Given the description of an element on the screen output the (x, y) to click on. 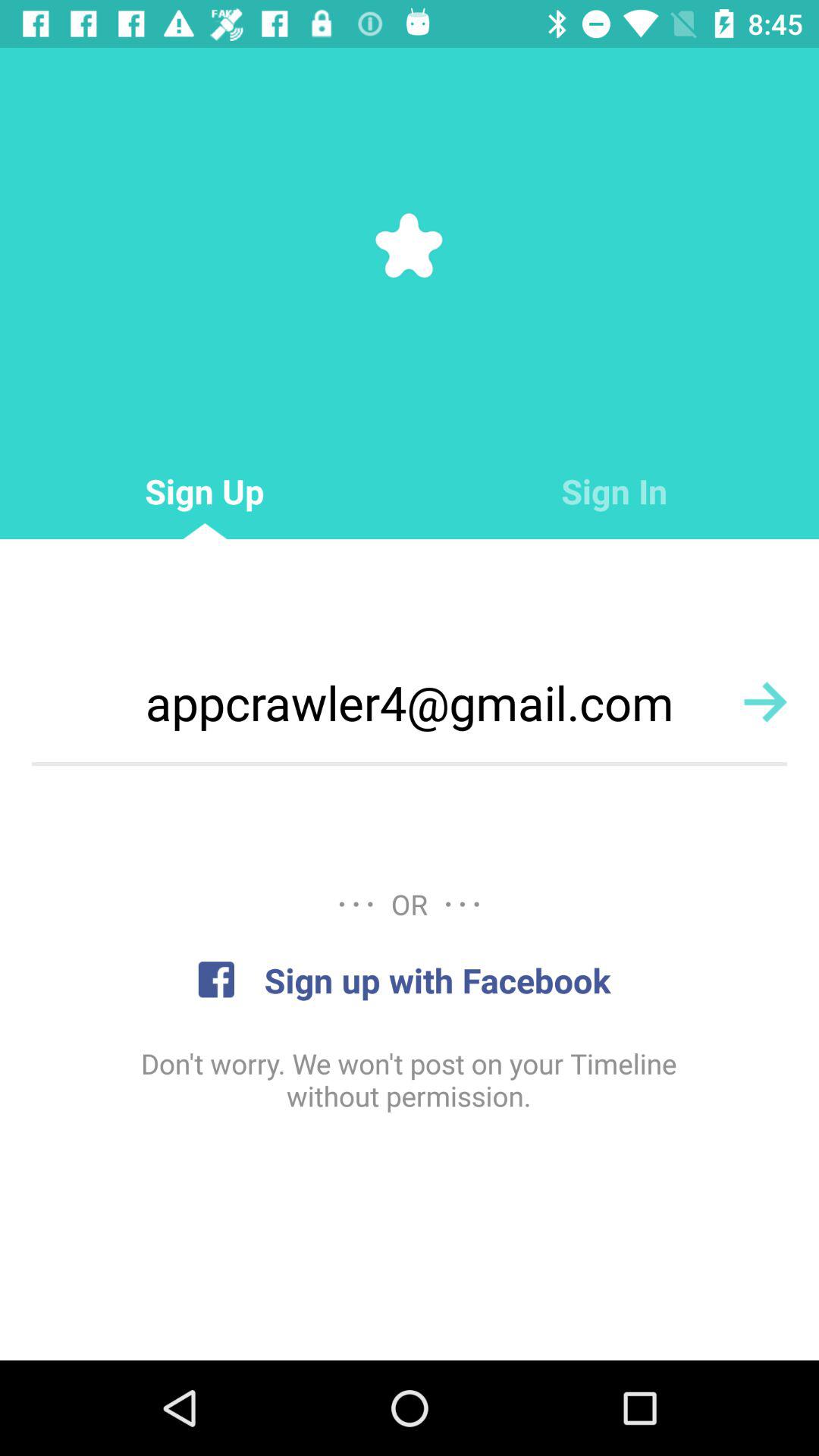
select icon next to the sign up icon (614, 491)
